Given the description of an element on the screen output the (x, y) to click on. 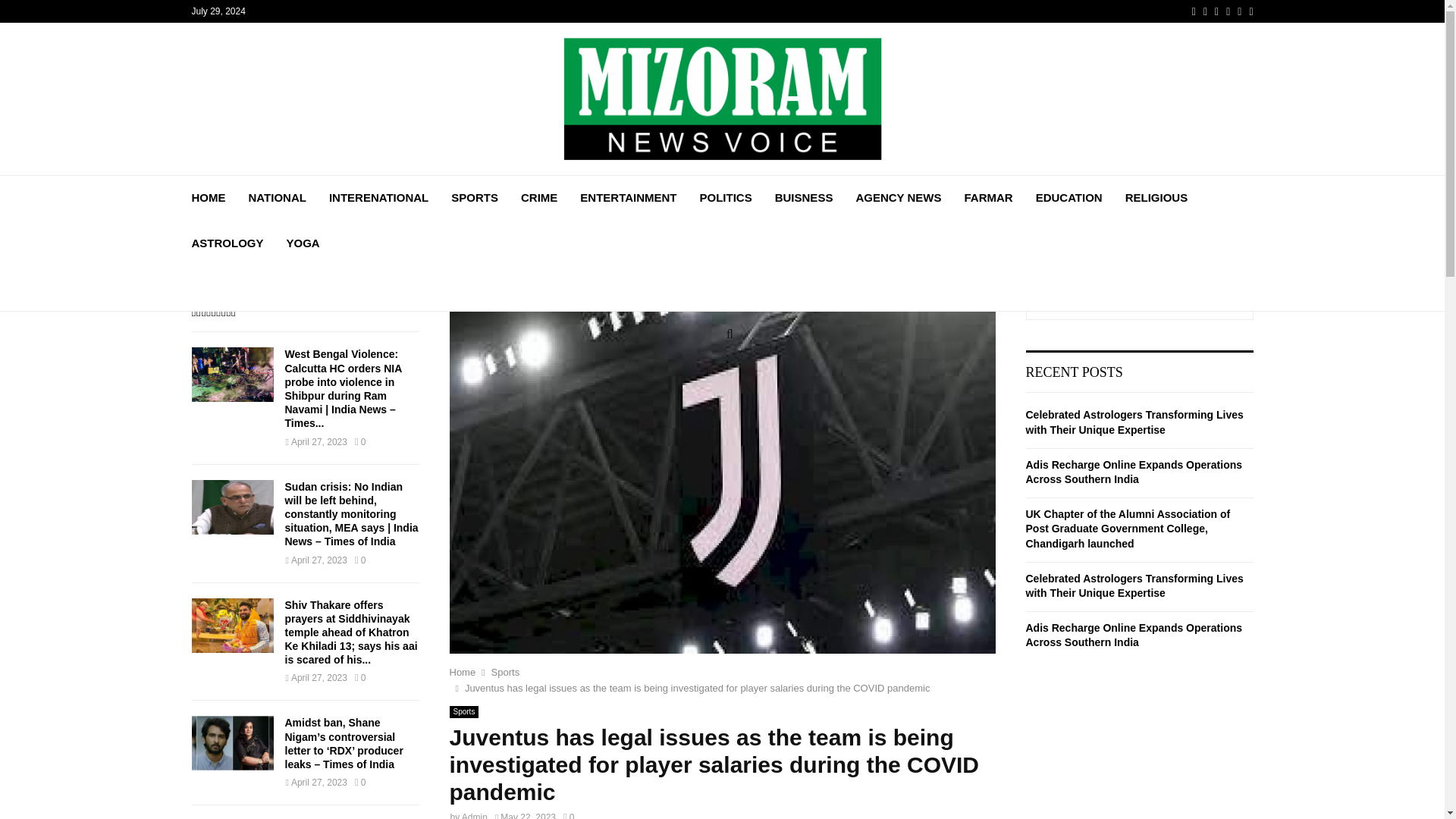
Sports (505, 672)
NATIONAL (276, 197)
RELIGIOUS (1156, 197)
POLITICS (726, 197)
INTERENATIONAL (378, 197)
AGENCY NEWS (898, 197)
ASTROLOGY (226, 243)
Home (462, 672)
SPORTS (474, 197)
EDUCATION (1068, 197)
FARMAR (987, 197)
ENTERTAINMENT (628, 197)
BUISNESS (803, 197)
